Given the description of an element on the screen output the (x, y) to click on. 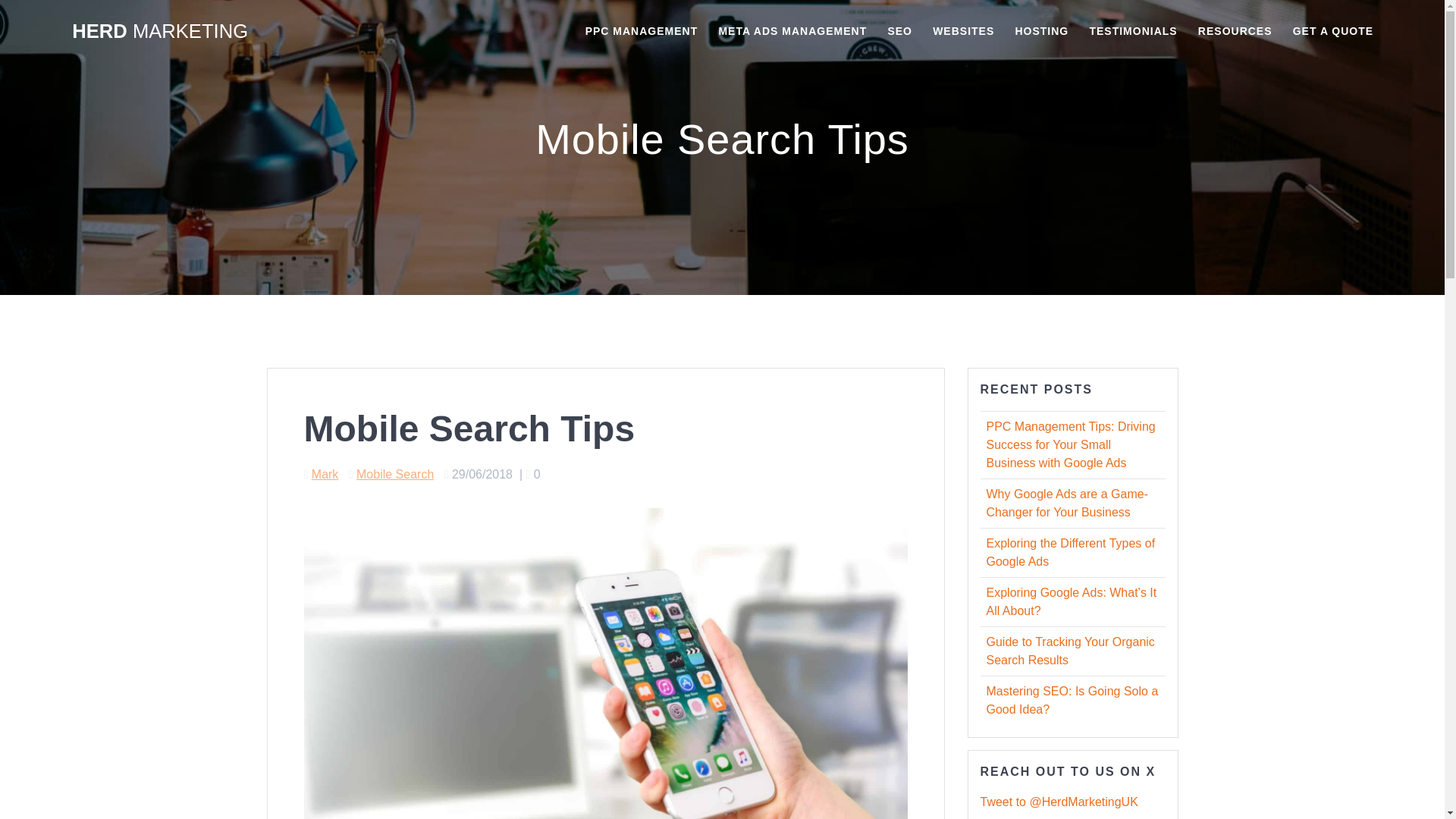
Mobile Search (394, 473)
Mastering SEO: Is Going Solo a Good Idea? (1071, 699)
Exploring the Different Types of Google Ads (1069, 552)
PPC MANAGEMENT (641, 31)
HERD MARKETING (159, 31)
HOSTING (1041, 31)
WEBSITES (963, 31)
Guide to Tracking Your Organic Search Results (1069, 650)
RESOURCES (1235, 31)
